Given the description of an element on the screen output the (x, y) to click on. 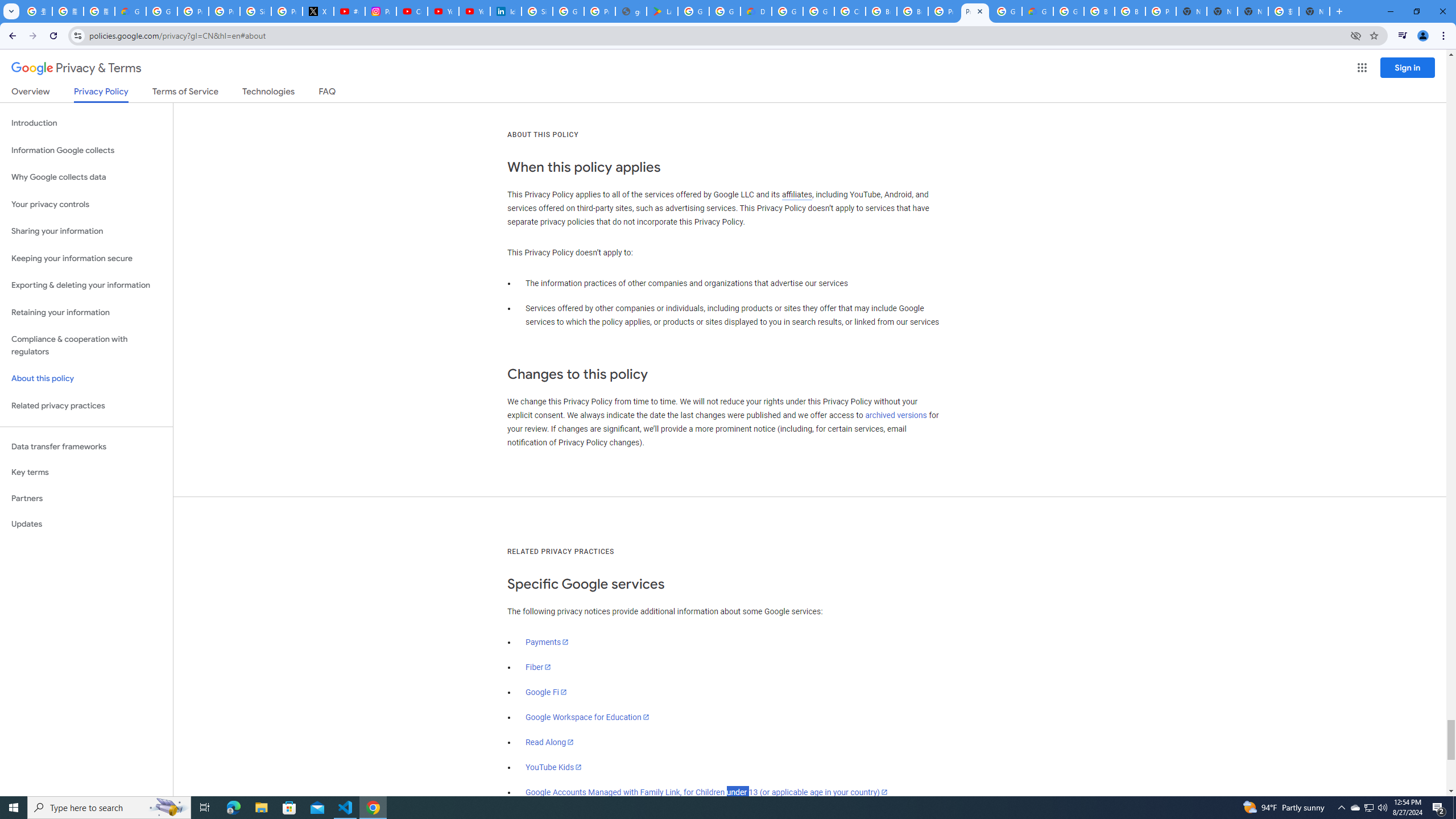
Related privacy practices (86, 405)
Data transfer frameworks (86, 446)
archived versions (895, 415)
Sharing your information (86, 230)
Read Along (550, 741)
Payments (547, 642)
Google Cloud Platform (1068, 11)
#nbabasketballhighlights - YouTube (349, 11)
Privacy & Terms (76, 68)
